Given the description of an element on the screen output the (x, y) to click on. 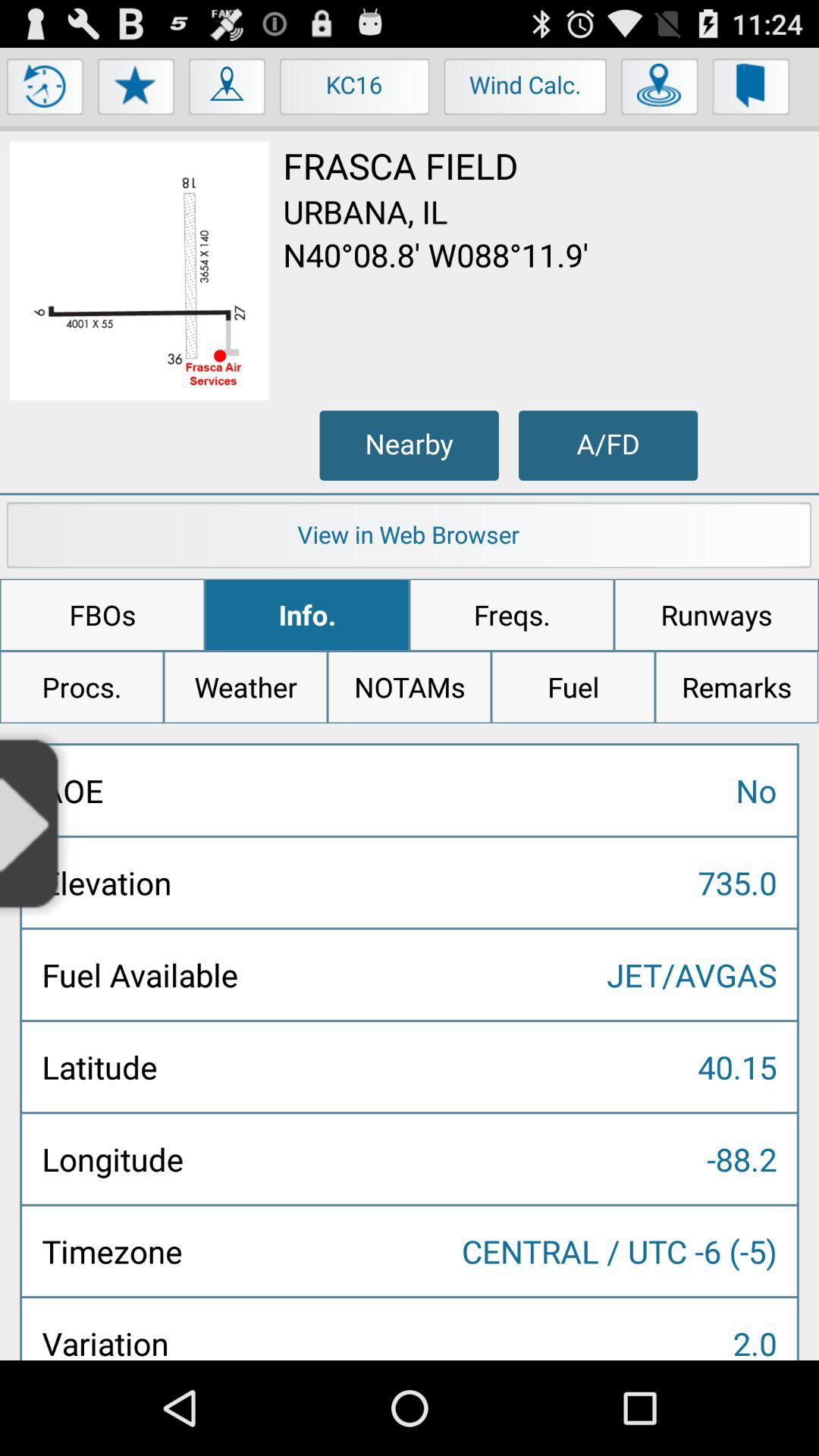
picture of a map (139, 270)
